Given the description of an element on the screen output the (x, y) to click on. 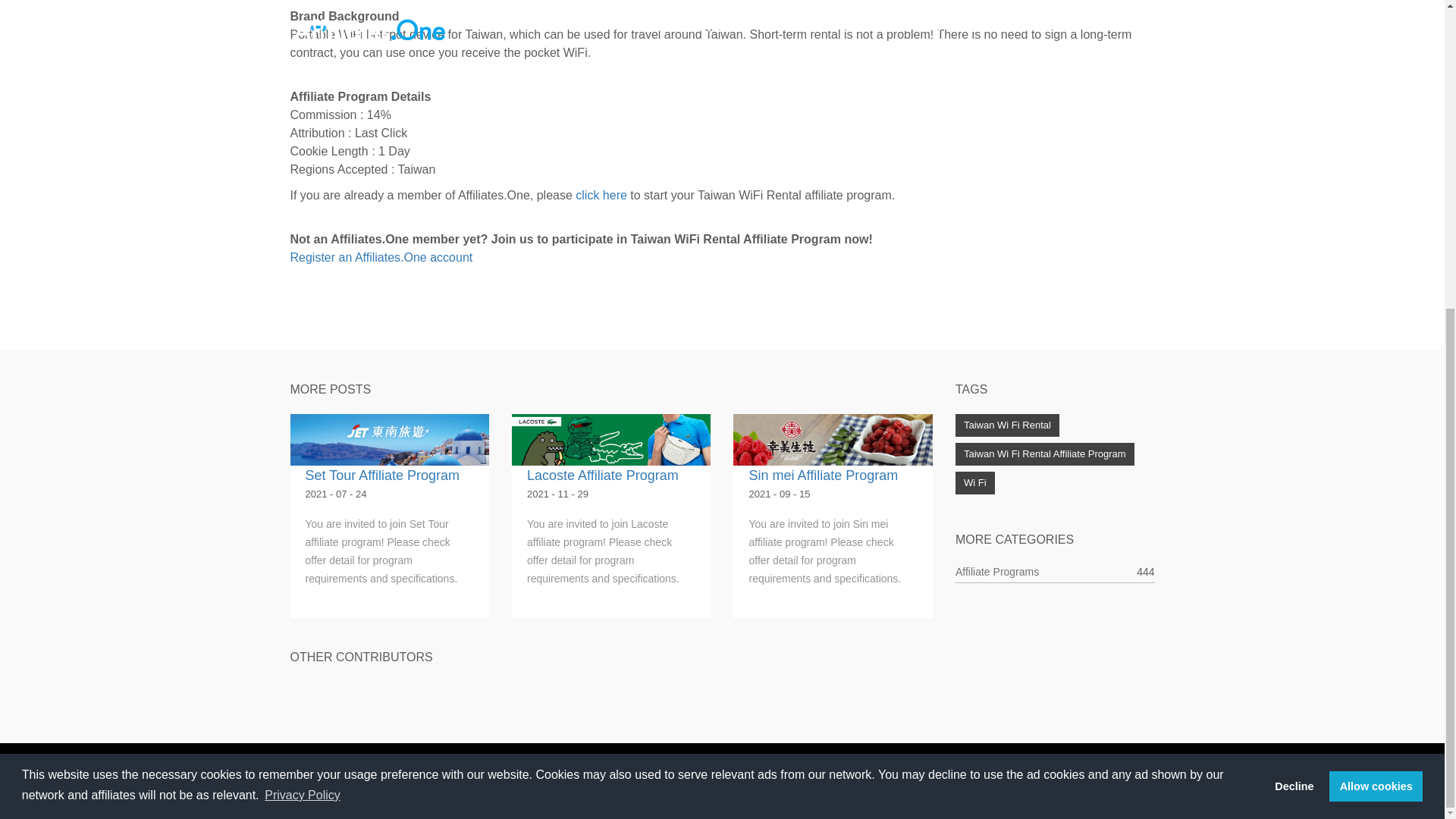
Home (565, 780)
Affiliate Programs (997, 571)
Register an Affiliates.One account (380, 256)
Sin mei Affiliate Program (823, 475)
Terms (1023, 780)
Login (880, 780)
Set Tour Affiliate Program (381, 475)
Agencies (791, 780)
Taiwan Wi Fi Rental (1007, 425)
Lacoste Affiliate Program (602, 475)
